Given the description of an element on the screen output the (x, y) to click on. 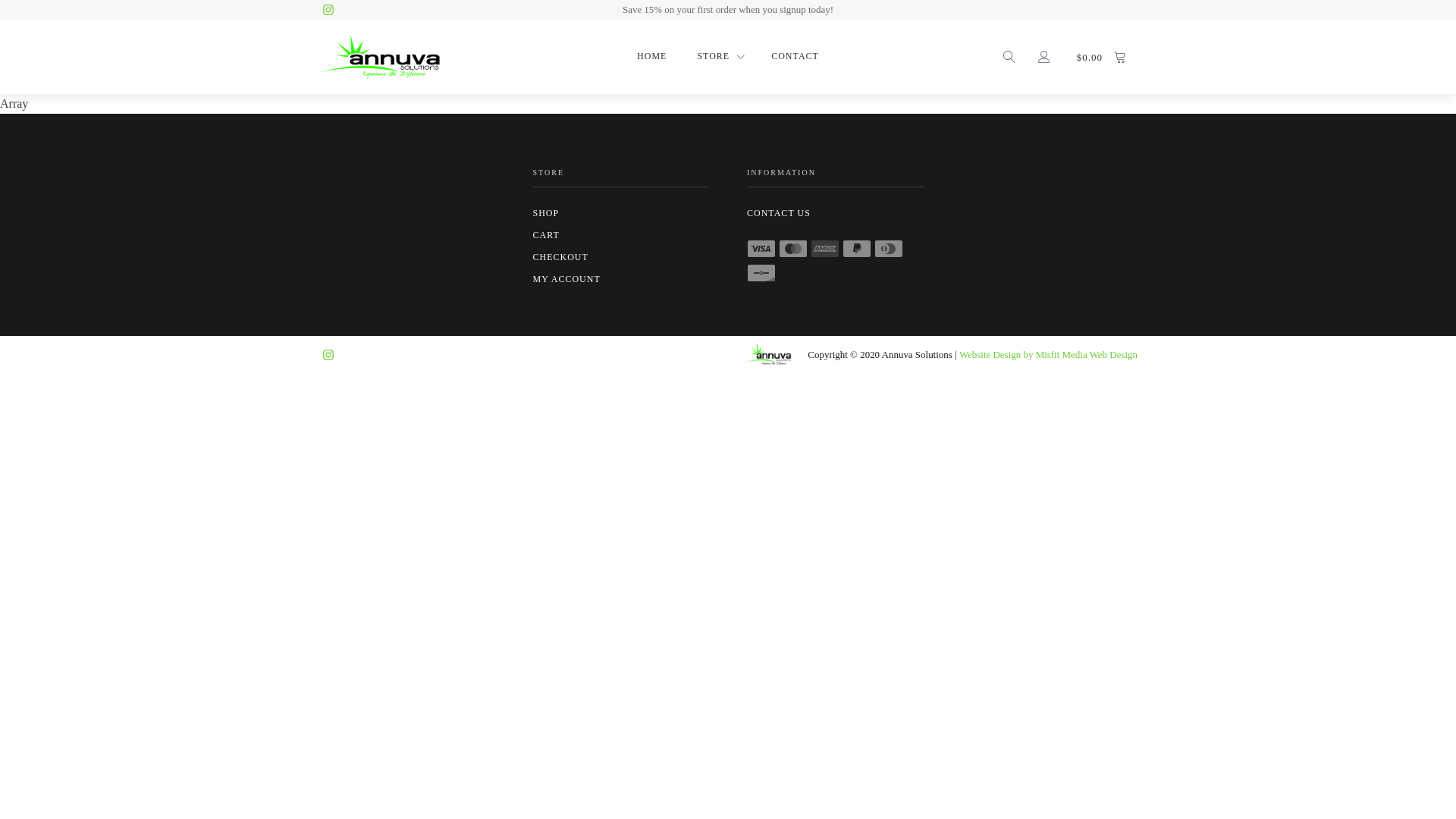
MY ACCOUNT Element type: text (620, 279)
CART Element type: text (620, 235)
CONTACT US Element type: text (834, 213)
SHOP Element type: text (620, 213)
HOME Element type: text (651, 56)
Website Design by Misfit Media Web Design Element type: text (1048, 355)
CONTACT Element type: text (794, 56)
CHECKOUT Element type: text (620, 257)
